Given the description of an element on the screen output the (x, y) to click on. 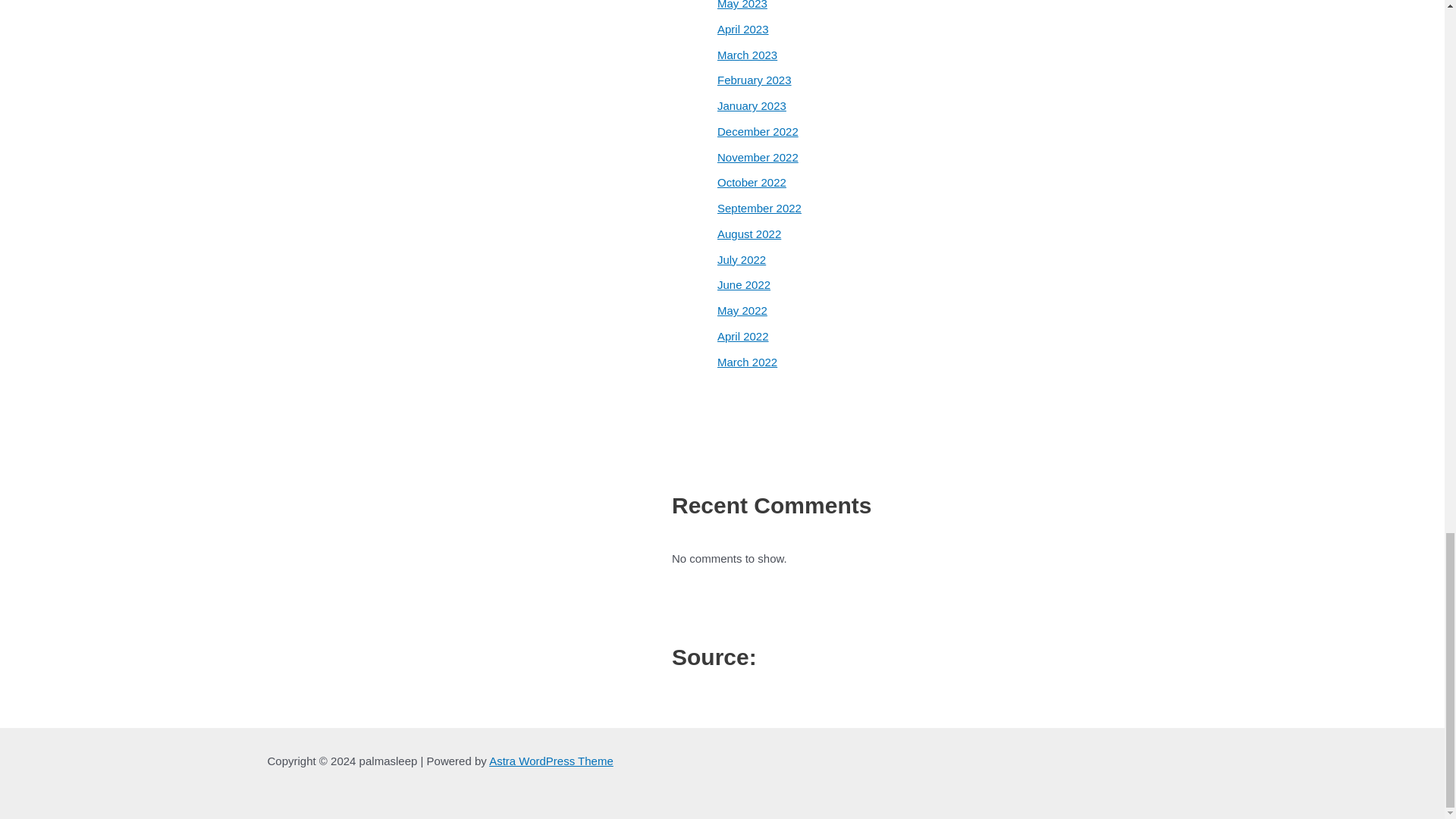
March 2023 (747, 54)
May 2023 (742, 4)
April 2023 (742, 29)
